Given the description of an element on the screen output the (x, y) to click on. 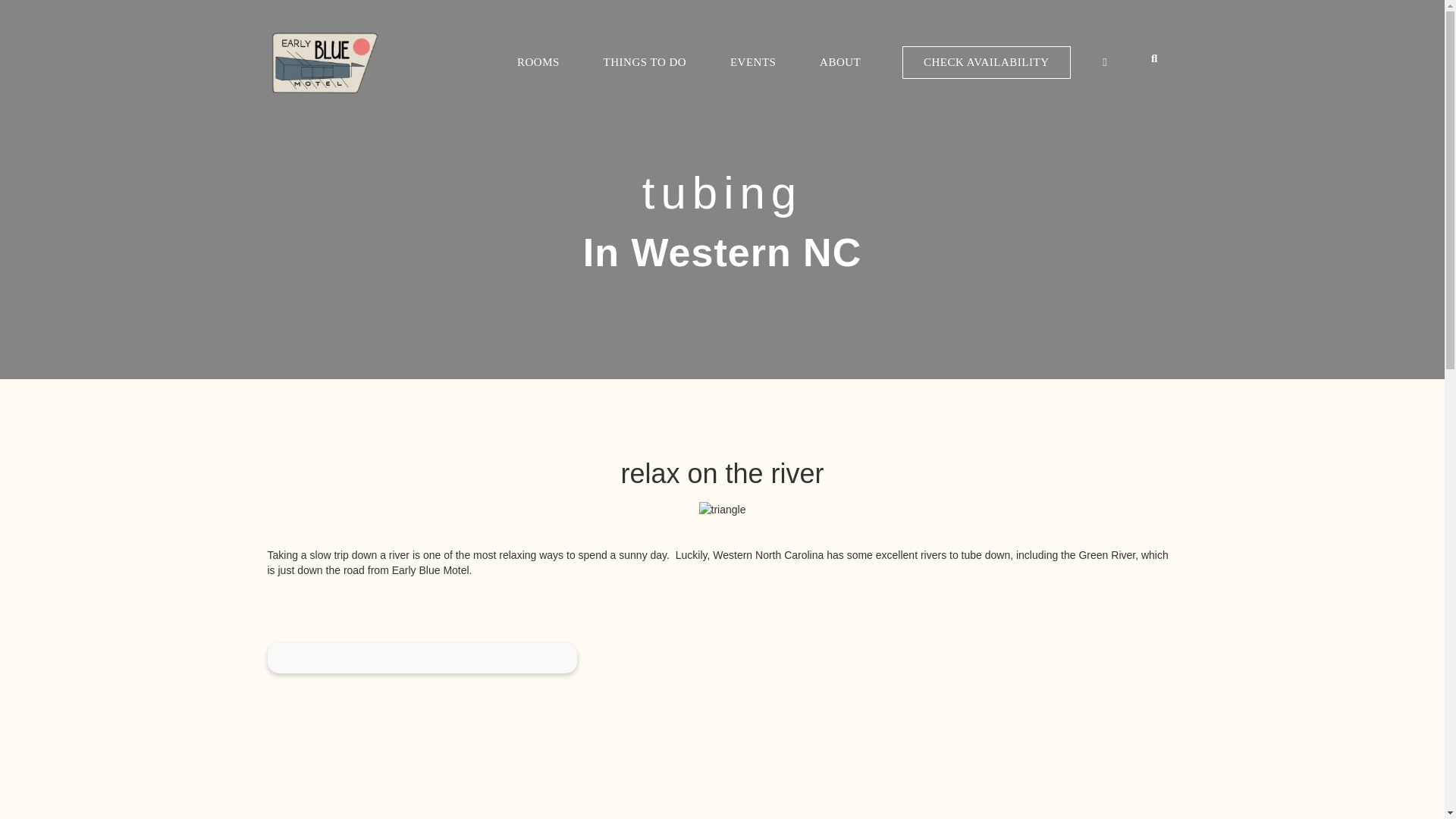
low-quality-logo (324, 62)
THINGS TO DO (645, 62)
CHECK AVAILABILITY (986, 62)
ROOMS (537, 62)
EVENTS (753, 62)
ABOUT (840, 62)
